Given the description of an element on the screen output the (x, y) to click on. 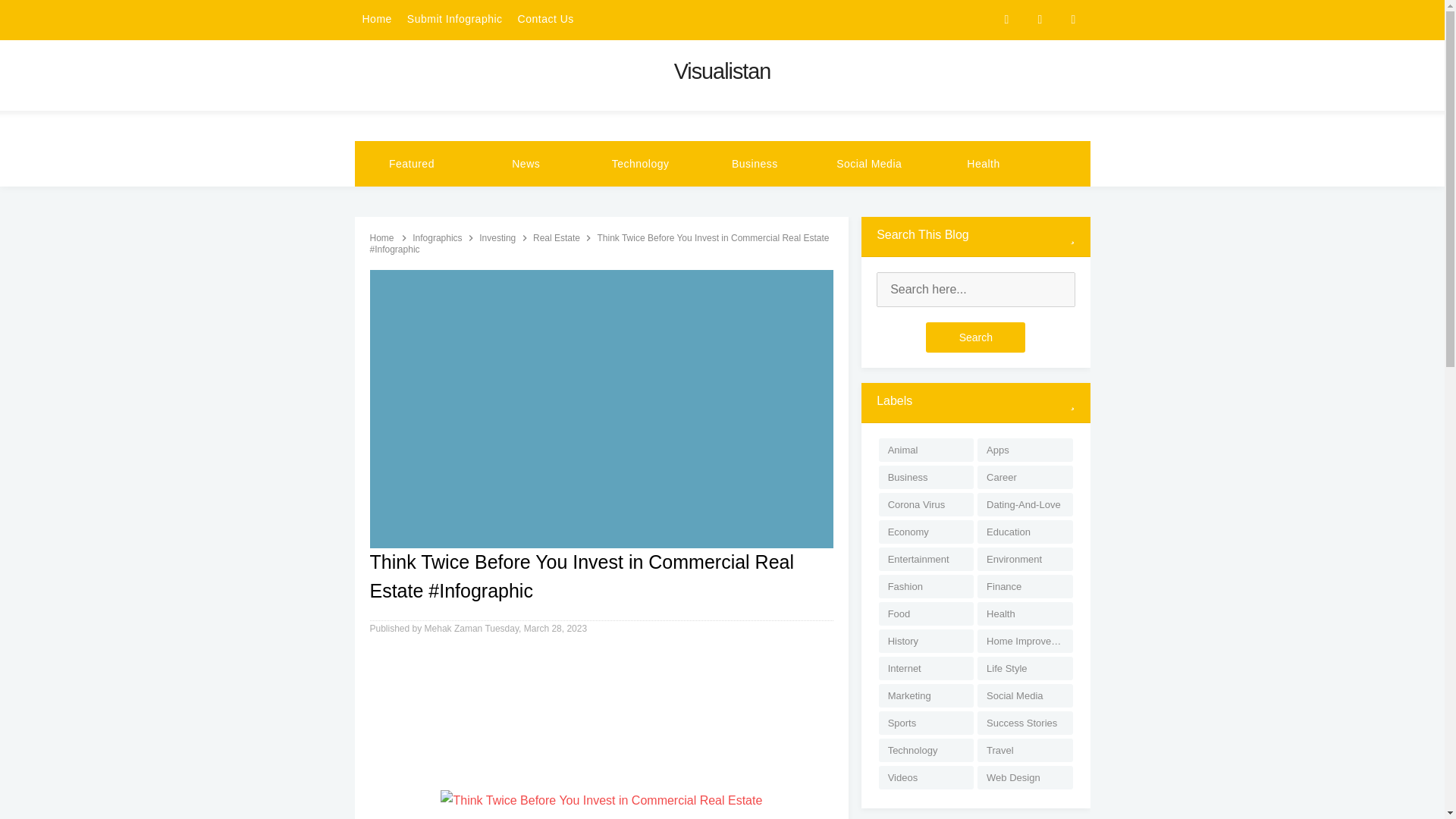
Featured (411, 163)
Real Estate (557, 237)
author profile (454, 628)
Advertisement (601, 716)
Submit Infographic (454, 20)
News (525, 163)
Infographics (438, 237)
Contact Us (545, 20)
Think Twice Before You Invest in Commercial Real  Estate (601, 800)
Home (381, 237)
Search (975, 337)
Visualistan (722, 70)
Technology (640, 163)
Search (975, 337)
Health (983, 163)
